Given the description of an element on the screen output the (x, y) to click on. 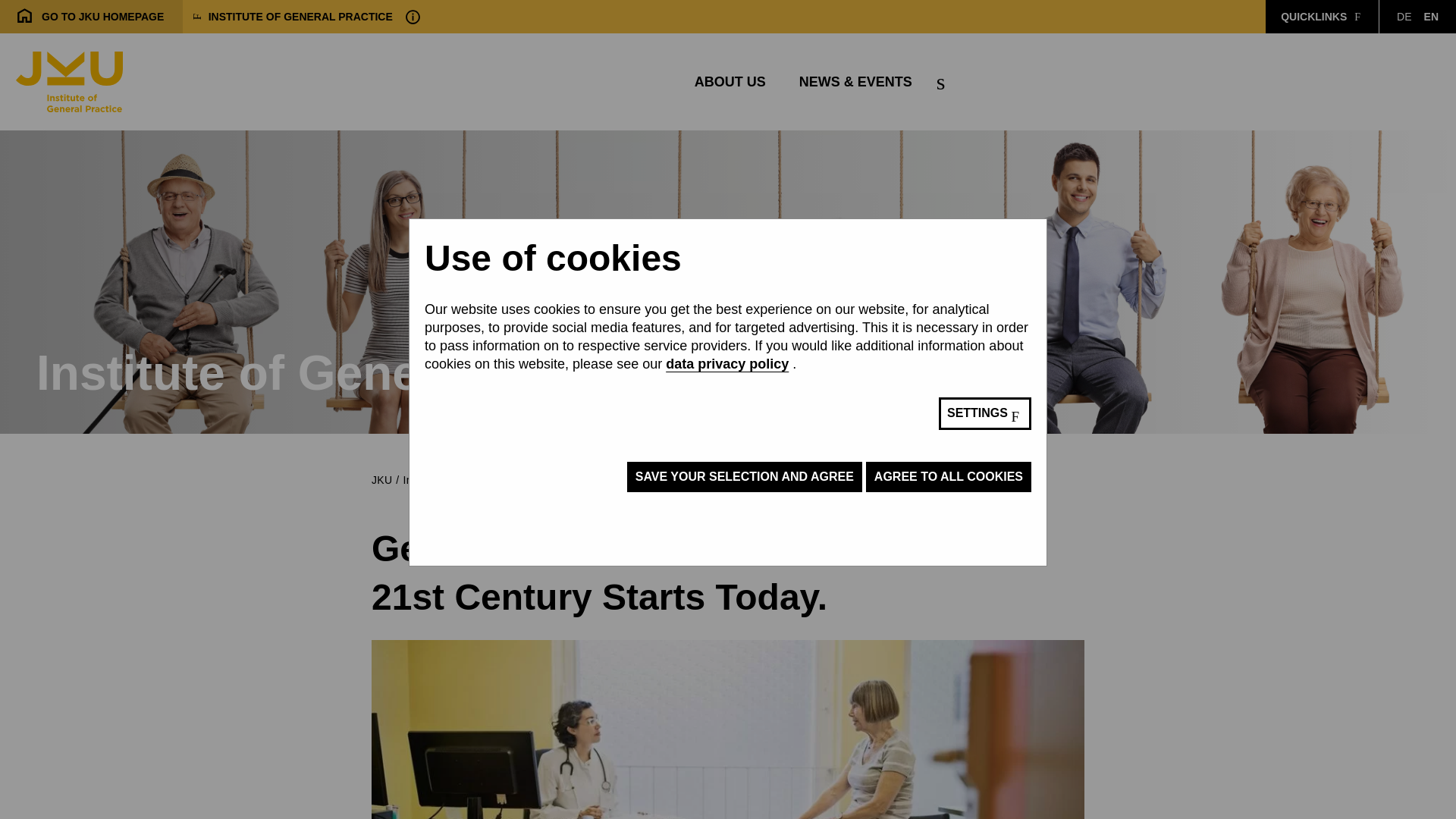
GO TO JKU HOMEPAGE (1403, 16)
QUICKLINKS (1431, 16)
